Given the description of an element on the screen output the (x, y) to click on. 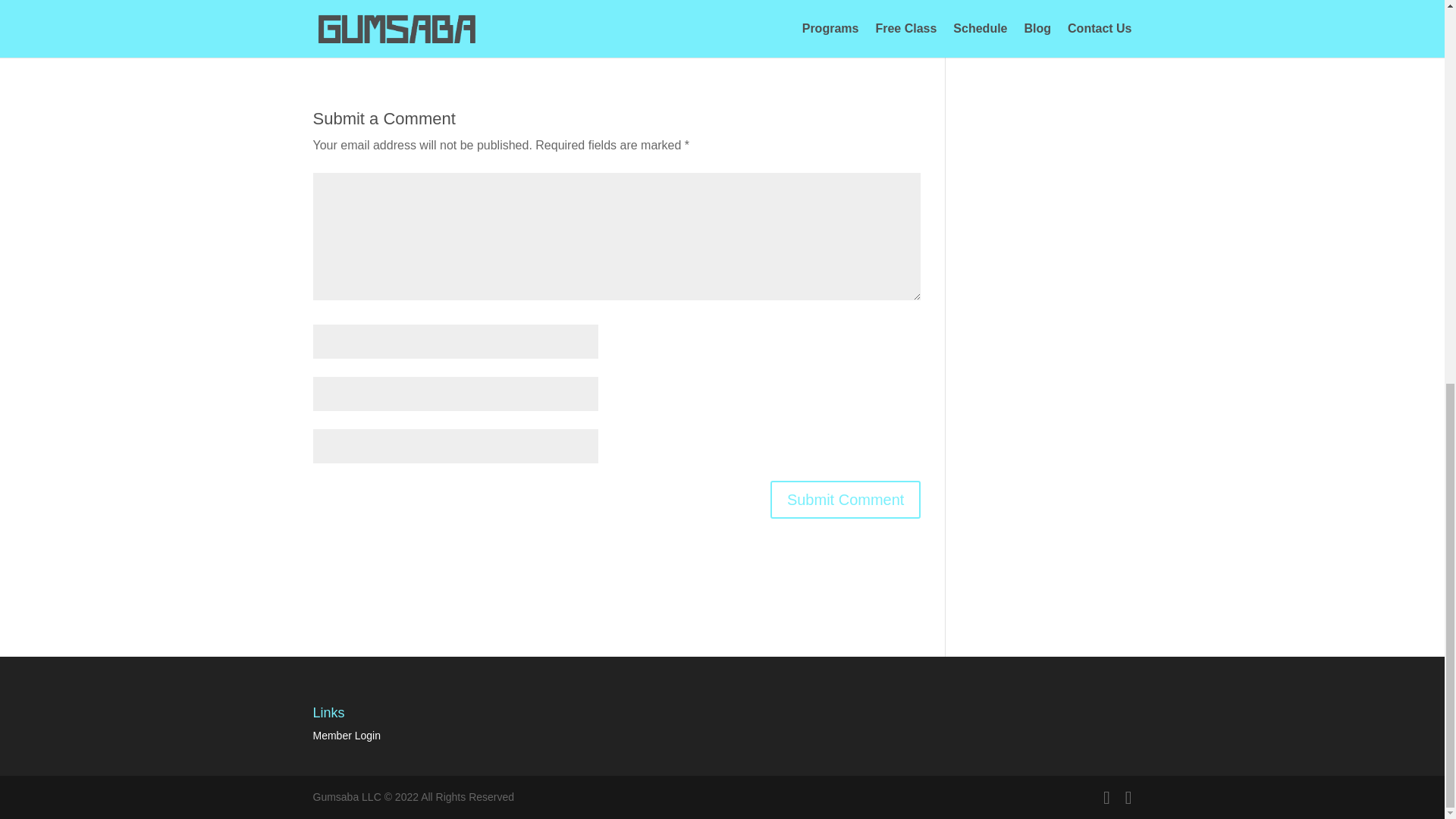
Member Login (346, 735)
Submit Comment (845, 499)
Submit Comment (845, 499)
